Given the description of an element on the screen output the (x, y) to click on. 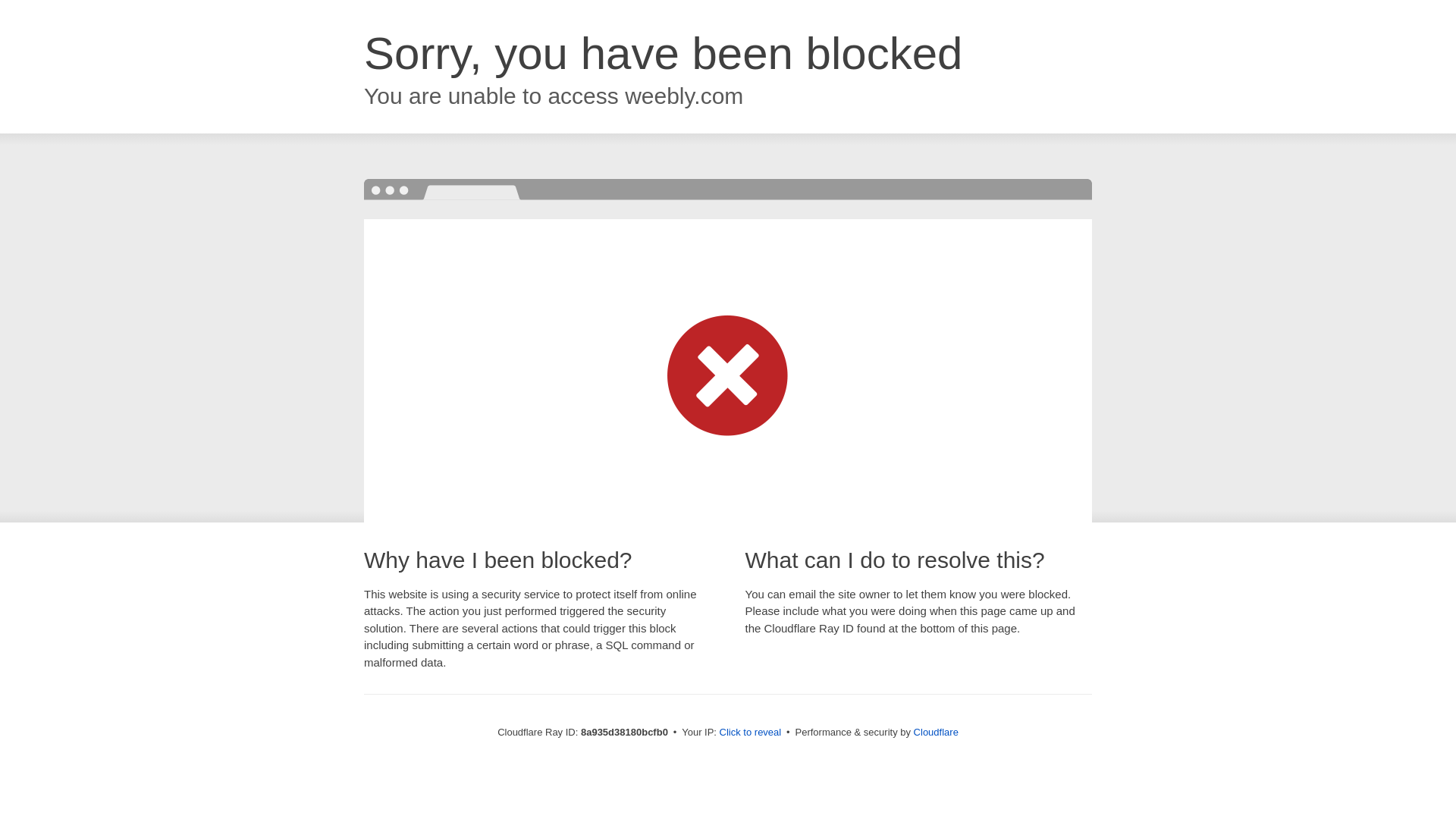
Cloudflare (936, 731)
Click to reveal (750, 732)
